Given the description of an element on the screen output the (x, y) to click on. 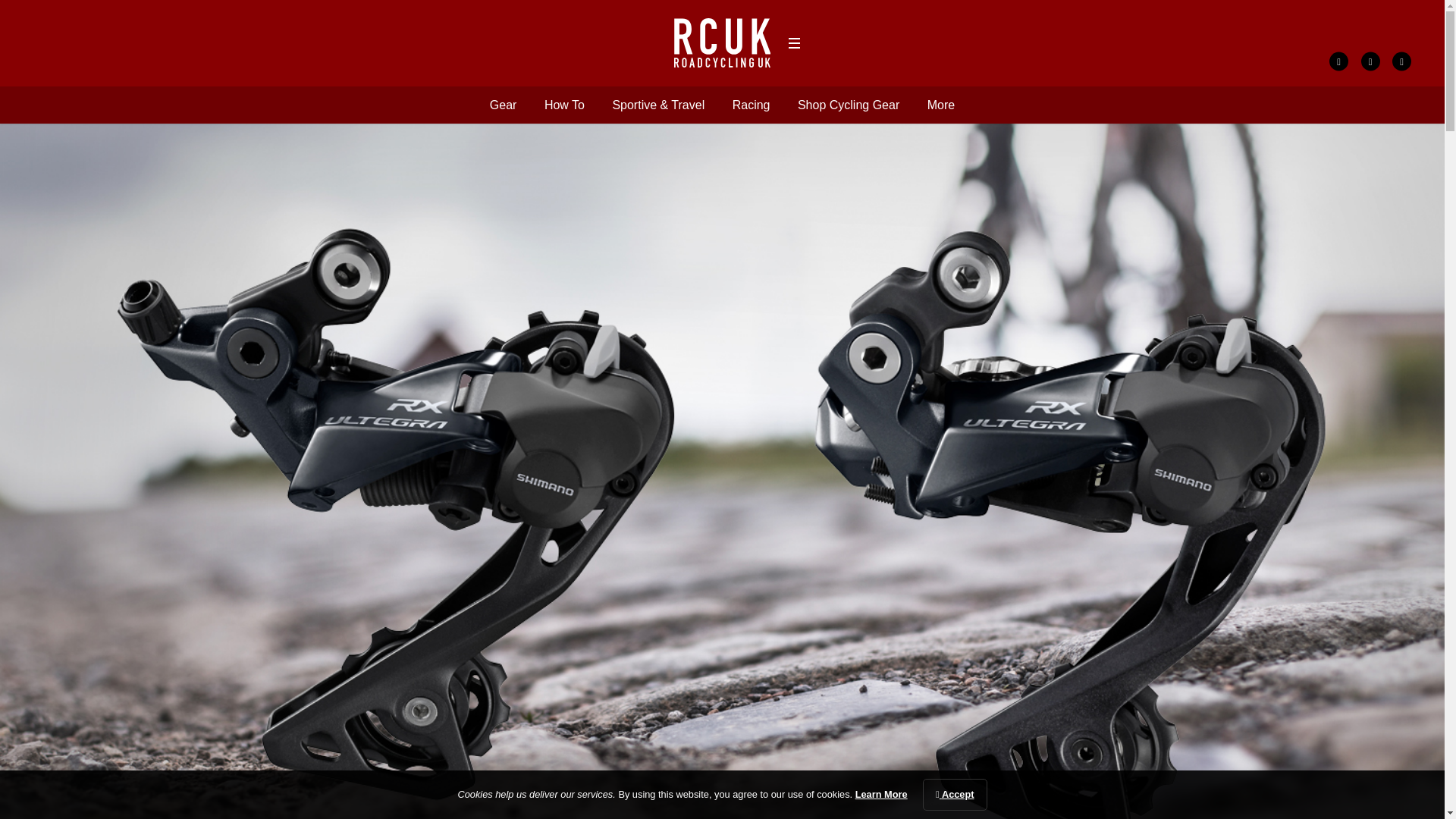
Racing (751, 104)
Gear (502, 104)
Find us on Facebook (1338, 61)
Follow us on Twitter (1370, 61)
Menu (794, 42)
How To (564, 104)
Shop Cycling Gear (848, 104)
Find us on Instagram (1400, 61)
More (941, 104)
